Given the description of an element on the screen output the (x, y) to click on. 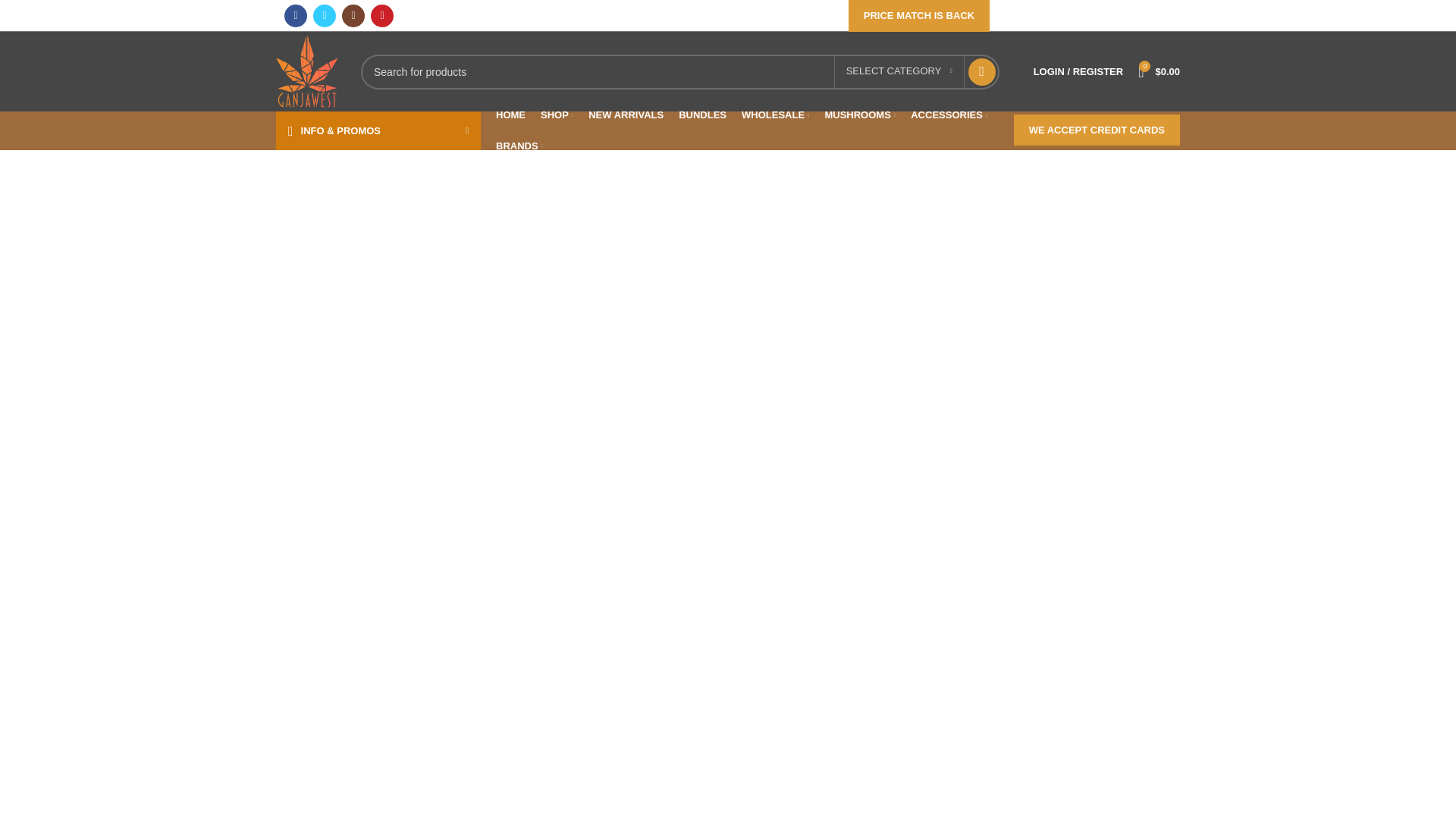
Shopping cart (1159, 71)
SELECT CATEGORY (898, 71)
My account (1078, 71)
Search for products (679, 71)
CONTACT (1074, 15)
ABOUT (1021, 15)
PRICE MATCH IS BACK (919, 15)
SELECT CATEGORY (898, 71)
